Given the description of an element on the screen output the (x, y) to click on. 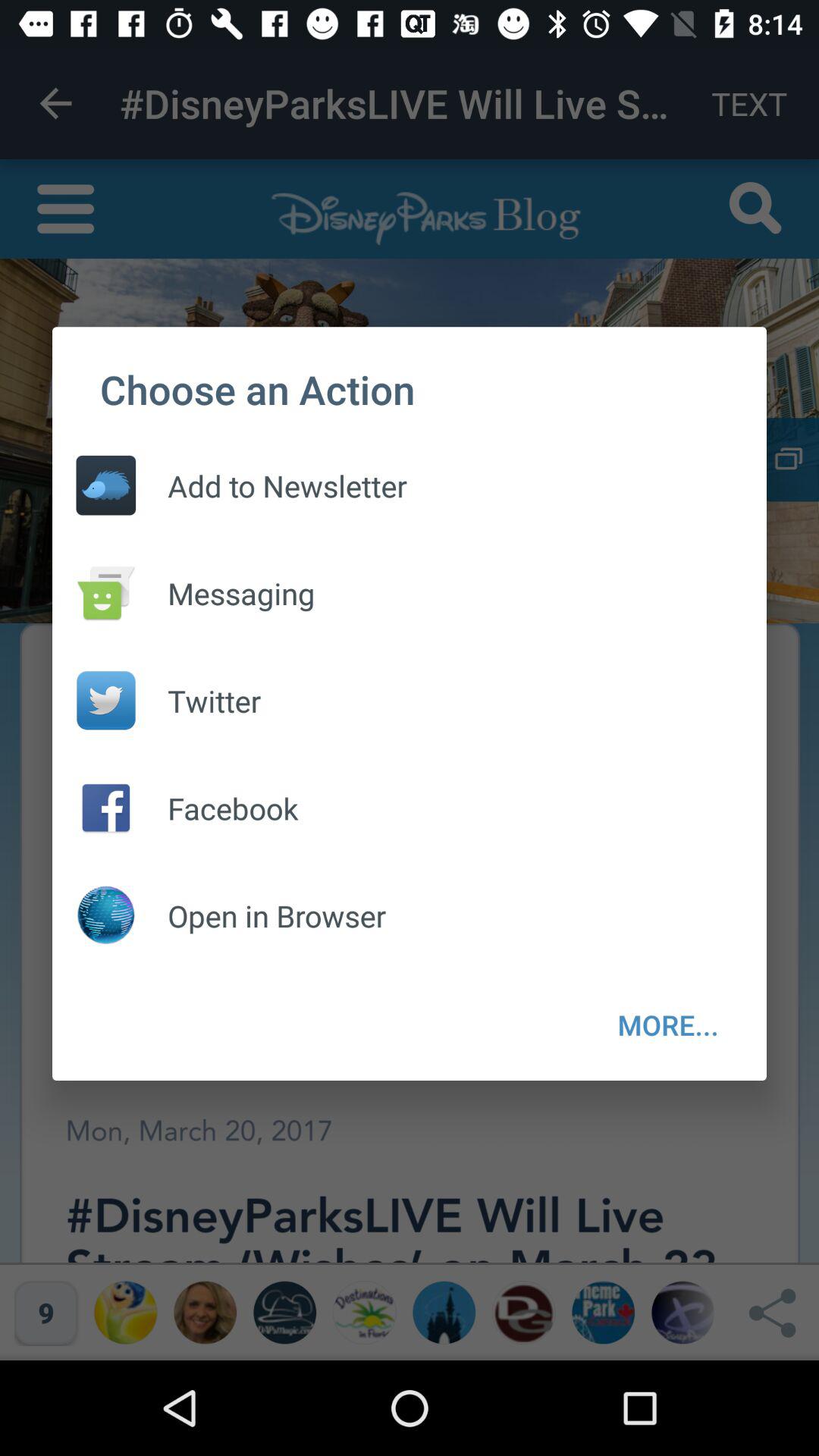
launch more... icon (667, 1024)
